Given the description of an element on the screen output the (x, y) to click on. 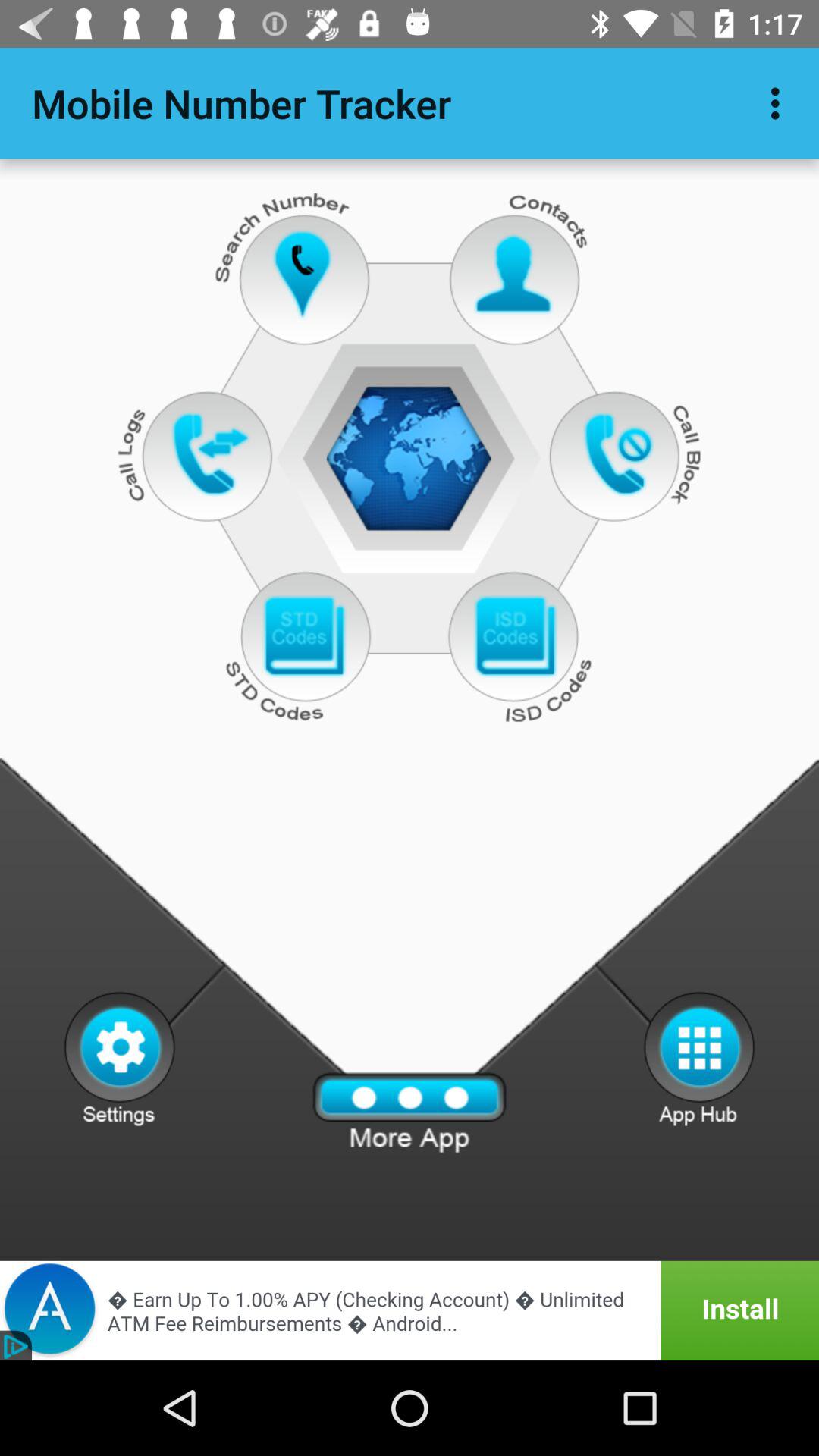
click for settings (119, 1057)
